Given the description of an element on the screen output the (x, y) to click on. 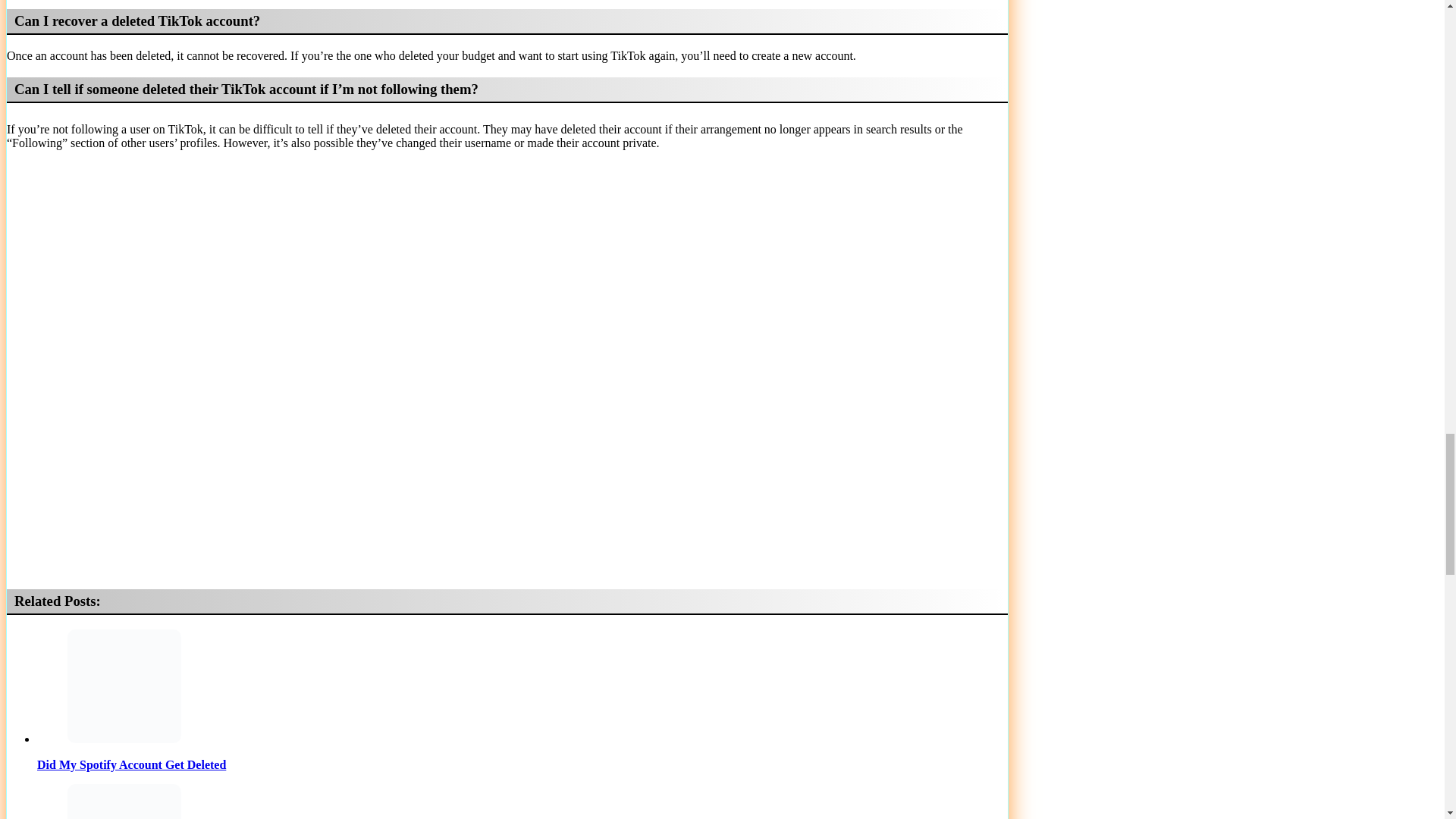
Did My Spotify Account Get Deleted (123, 685)
How to Delete Empower Account (522, 801)
How to Delete Empower Account (123, 801)
